Given the description of an element on the screen output the (x, y) to click on. 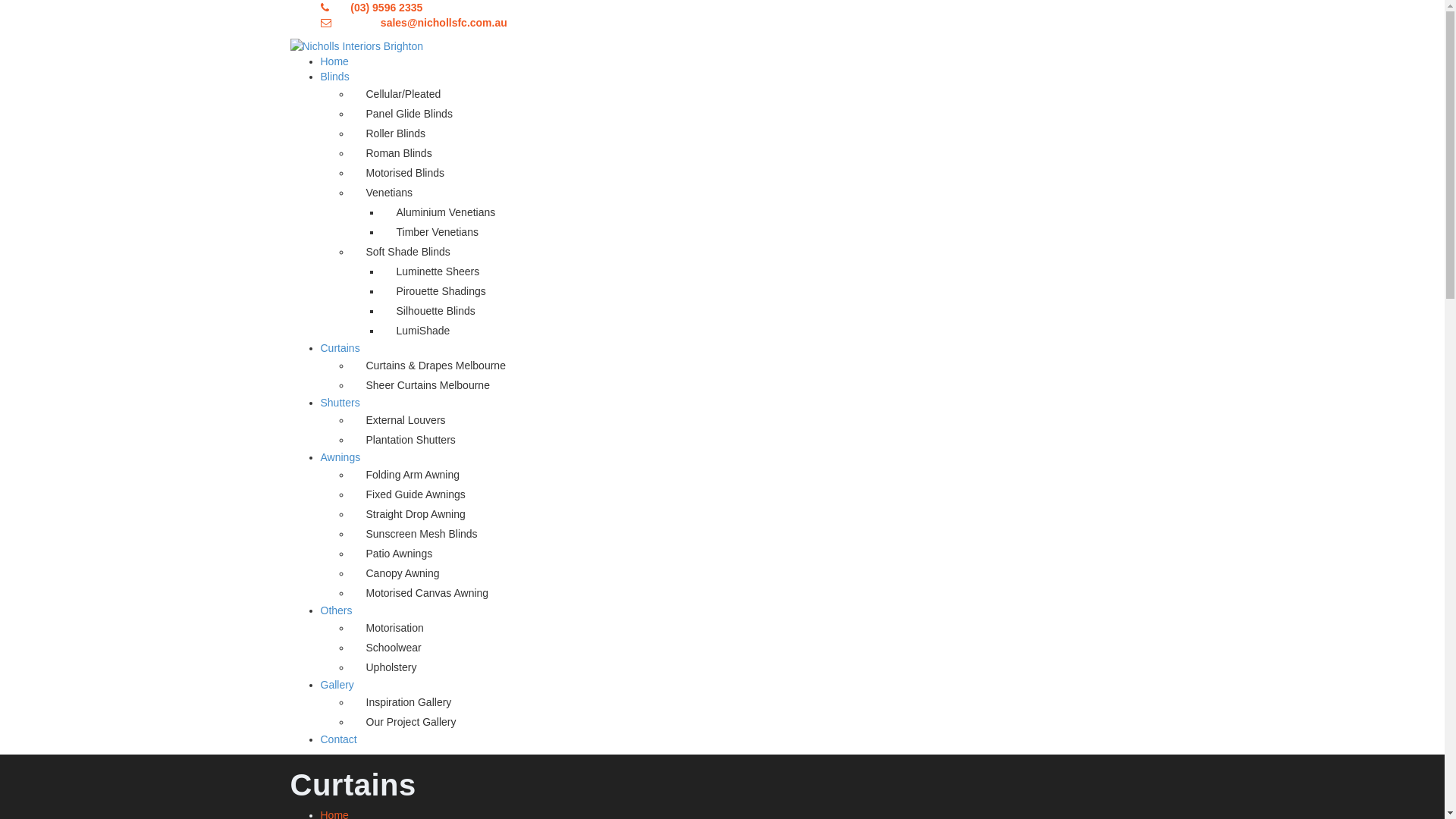
Panel Glide Blinds Element type: text (752, 113)
Shutters Element type: text (339, 402)
Folding Arm Awning Element type: text (752, 474)
Plantation Shutters Element type: text (752, 439)
Venetians Element type: text (752, 192)
Our Project Gallery Element type: text (752, 721)
Silhouette Blinds Element type: text (767, 310)
Inspiration Gallery Element type: text (752, 702)
LumiShade Element type: text (767, 330)
Motorised Canvas Awning Element type: text (752, 592)
Roman Blinds Element type: text (752, 153)
Pirouette Shadings Element type: text (767, 291)
Motorised Blinds Element type: text (752, 172)
Roller Blinds Element type: text (752, 133)
Canopy Awning Element type: text (752, 573)
Patio Awnings Element type: text (752, 553)
Straight Drop Awning Element type: text (752, 514)
Cellular/Pleated Element type: text (752, 93)
Curtains Element type: text (339, 348)
Sunscreen Mesh Blinds Element type: text (752, 533)
Upholstery Element type: text (752, 667)
Gallery Element type: text (336, 684)
Awnings Element type: text (340, 457)
Blinds Element type: text (334, 76)
Others Element type: text (335, 610)
Fixed Guide Awnings Element type: text (752, 494)
Contact Element type: text (338, 739)
Motorisation Element type: text (752, 627)
Soft Shade Blinds Element type: text (752, 251)
Sheer Curtains Melbourne Element type: text (752, 385)
Aluminium Venetians Element type: text (767, 212)
Curtains & Drapes Melbourne Element type: text (752, 365)
Luminette Sheers Element type: text (767, 271)
Home Element type: text (334, 61)
Timber Venetians Element type: text (767, 231)
Schoolwear Element type: text (752, 647)
External Louvers Element type: text (752, 419)
